Given the description of an element on the screen output the (x, y) to click on. 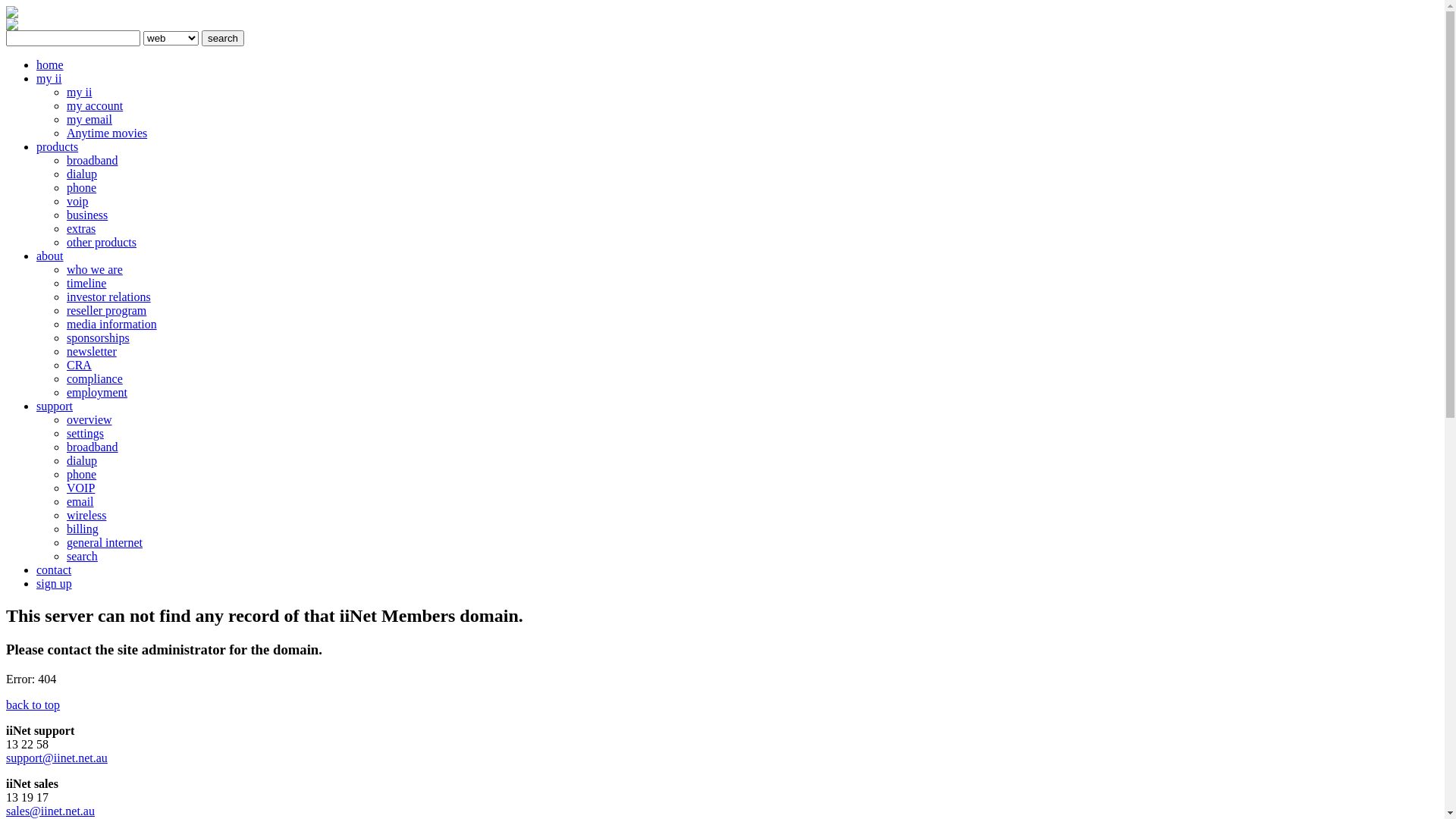
billing Element type: text (82, 528)
reseller program Element type: text (106, 310)
products Element type: text (57, 146)
phone Element type: text (81, 187)
compliance Element type: text (94, 378)
extras Element type: text (80, 228)
investor relations Element type: text (108, 296)
search Element type: text (222, 38)
search Element type: text (81, 555)
media information Element type: text (111, 323)
contact Element type: text (53, 569)
sponsorships Element type: text (97, 337)
my ii Element type: text (78, 91)
support@iinet.net.au Element type: text (56, 757)
employment Element type: text (96, 391)
dialup Element type: text (81, 460)
email Element type: text (80, 501)
support Element type: text (54, 405)
my email Element type: text (89, 118)
my account Element type: text (94, 105)
broadband Element type: text (92, 446)
sales@iinet.net.au Element type: text (50, 810)
business Element type: text (86, 214)
phone Element type: text (81, 473)
voip Element type: text (76, 200)
wireless Element type: text (86, 514)
CRA Element type: text (78, 364)
home Element type: text (49, 64)
settings Element type: text (84, 432)
dialup Element type: text (81, 173)
broadband Element type: text (92, 159)
back to top Element type: text (32, 704)
general internet Element type: text (104, 542)
VOIP Element type: text (80, 487)
my ii Element type: text (48, 78)
other products Element type: text (101, 241)
overview Element type: text (89, 419)
timeline Element type: text (86, 282)
who we are Element type: text (94, 269)
Anytime movies Element type: text (106, 132)
about Element type: text (49, 255)
sign up Element type: text (54, 583)
newsletter Element type: text (91, 351)
